Given the description of an element on the screen output the (x, y) to click on. 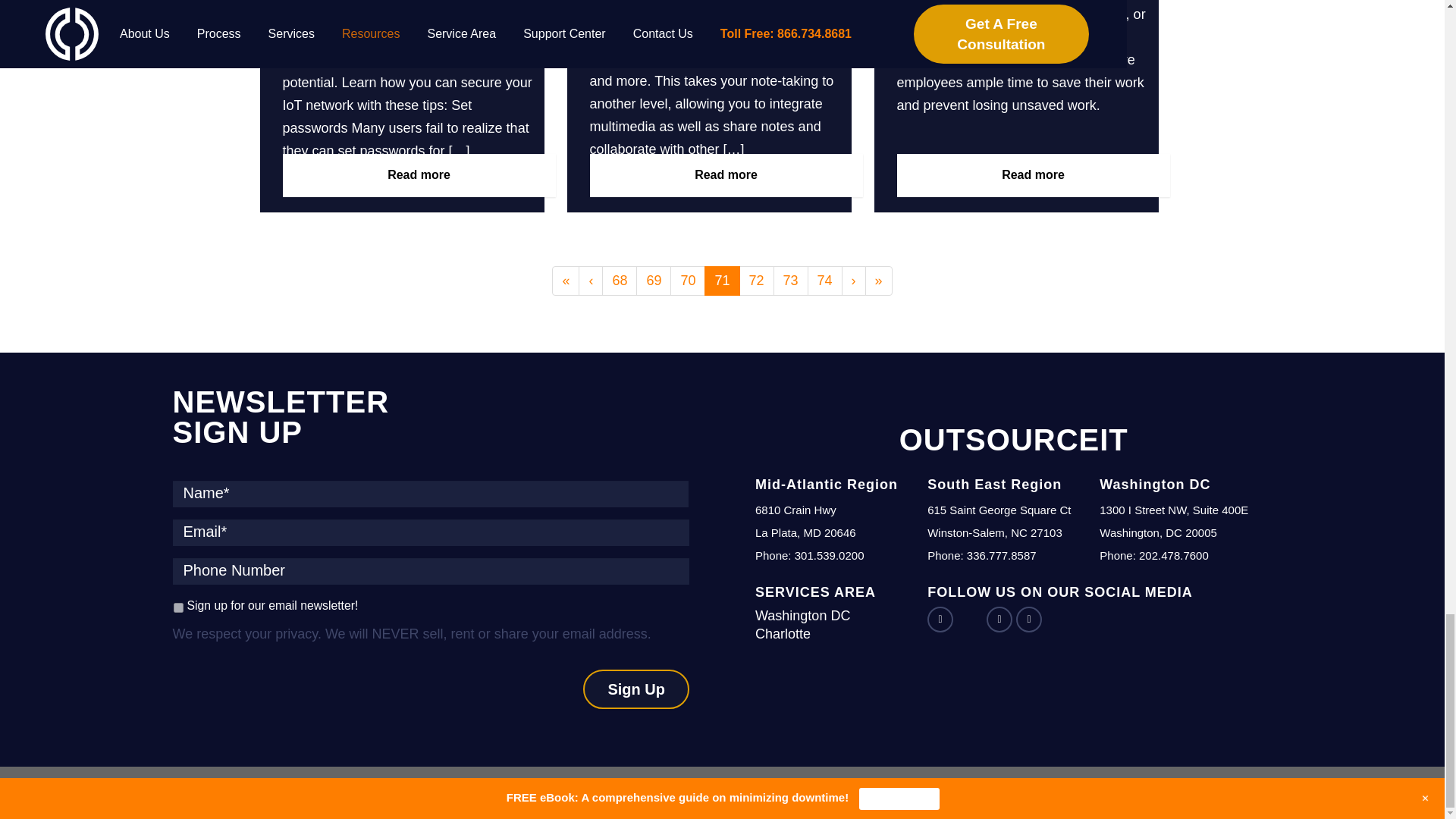
Sign Up (635, 689)
Sign up for our email newsletter! (178, 607)
